Given the description of an element on the screen output the (x, y) to click on. 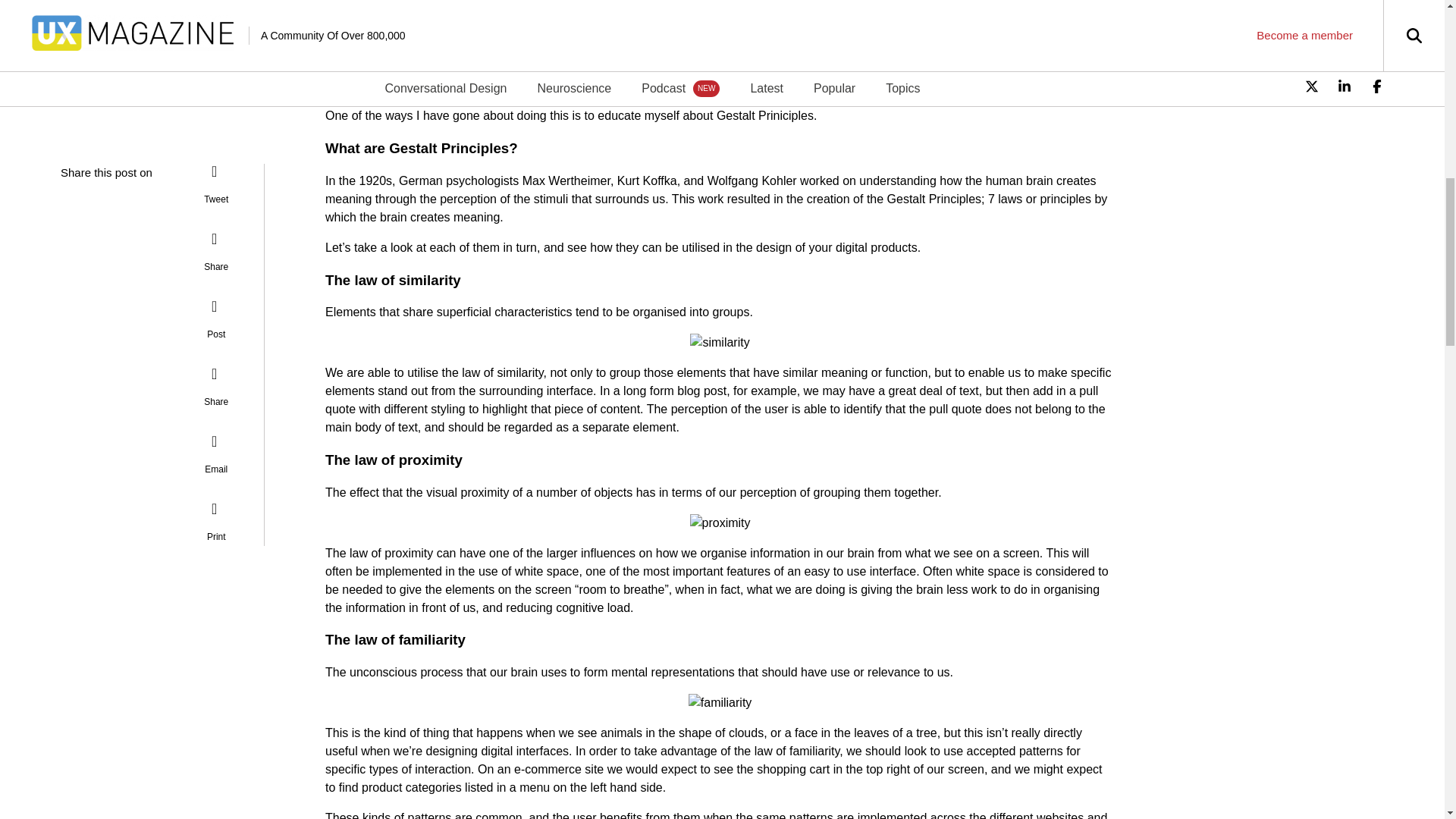
proximity (720, 523)
similarity (719, 342)
familiarity (720, 702)
